Given the description of an element on the screen output the (x, y) to click on. 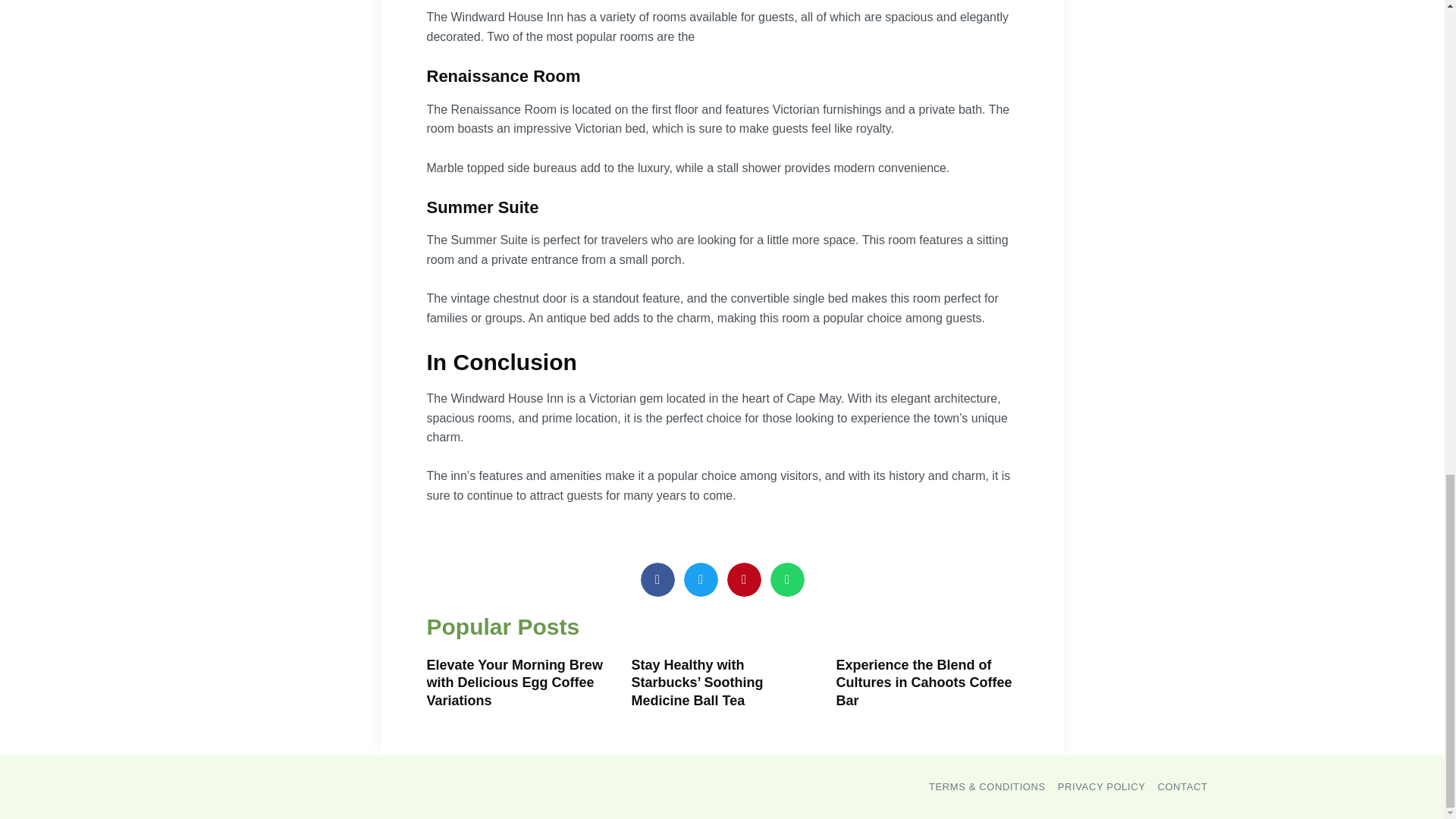
CONTACT (1182, 786)
Experience the Blend of Cultures in Cahoots Coffee Bar (923, 682)
PRIVACY POLICY (1101, 786)
